Given the description of an element on the screen output the (x, y) to click on. 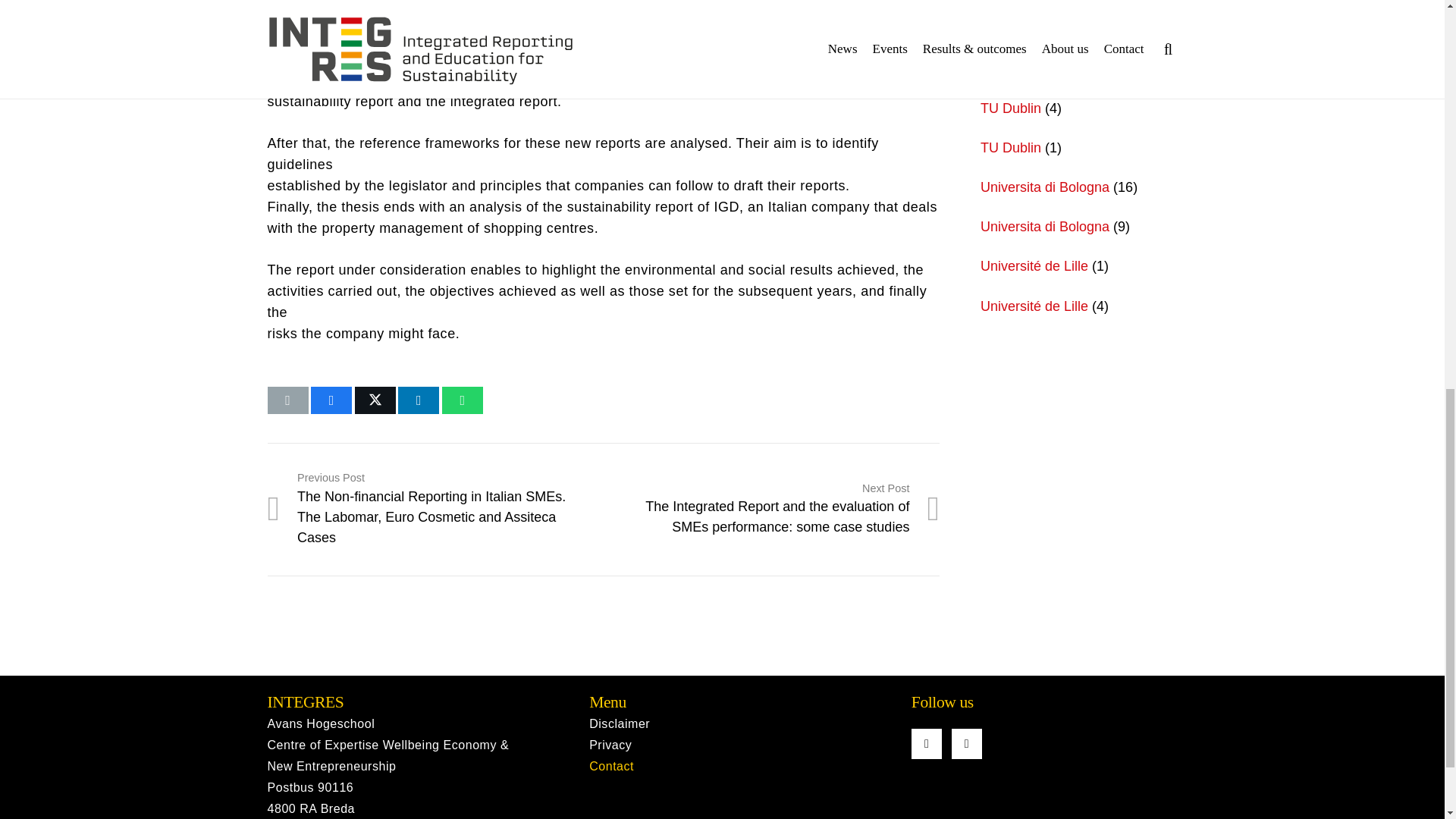
Share this (331, 400)
LinkedIn (966, 743)
TU Dublin (1010, 108)
YouTube (926, 743)
Share this (418, 400)
Share this (462, 400)
Back to top (1413, 26)
TU Dublin (1010, 147)
News (996, 28)
Email this (286, 400)
Tweet this (375, 400)
